Given the description of an element on the screen output the (x, y) to click on. 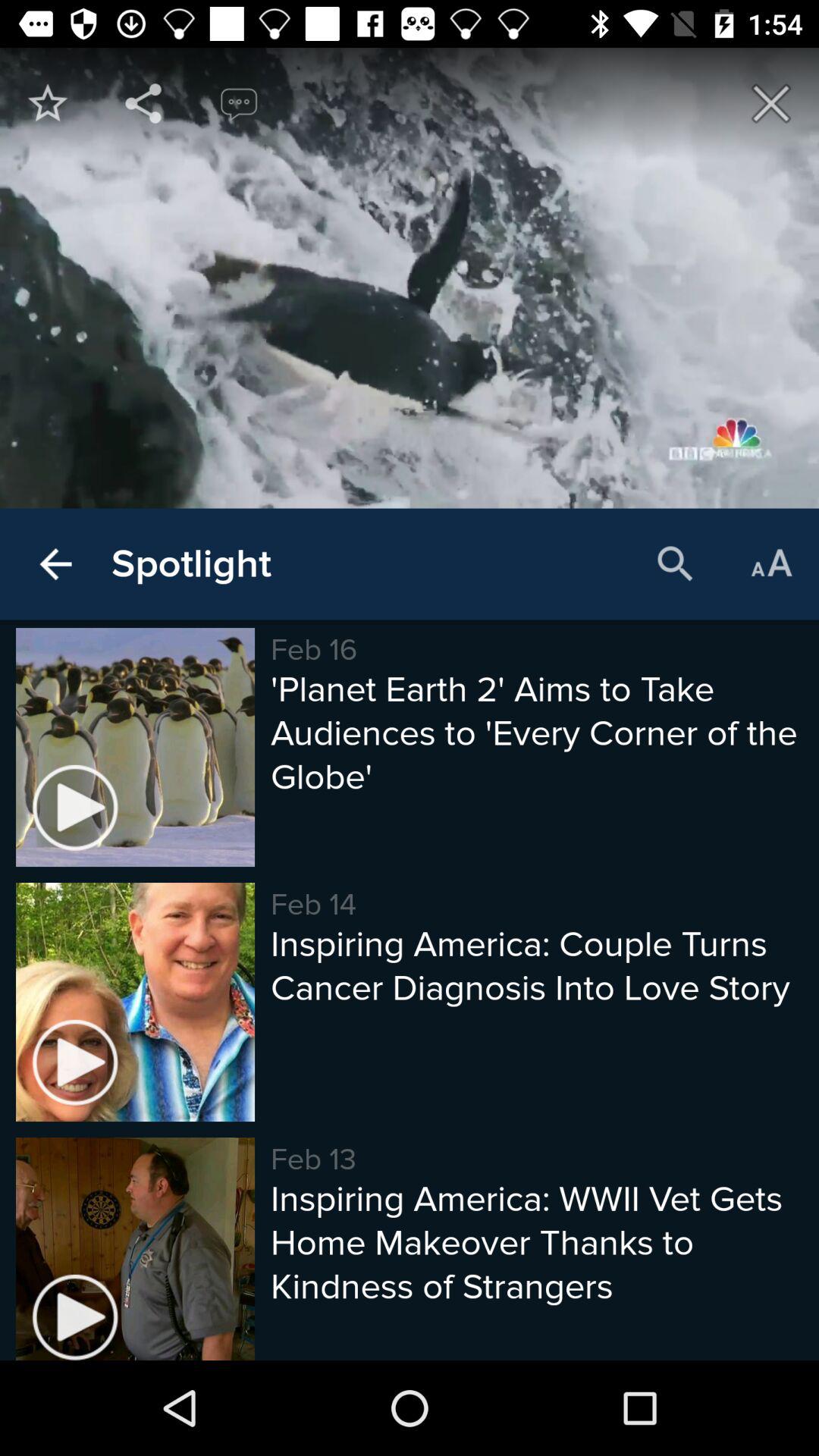
turn off item next to spotlight item (55, 563)
